Given the description of an element on the screen output the (x, y) to click on. 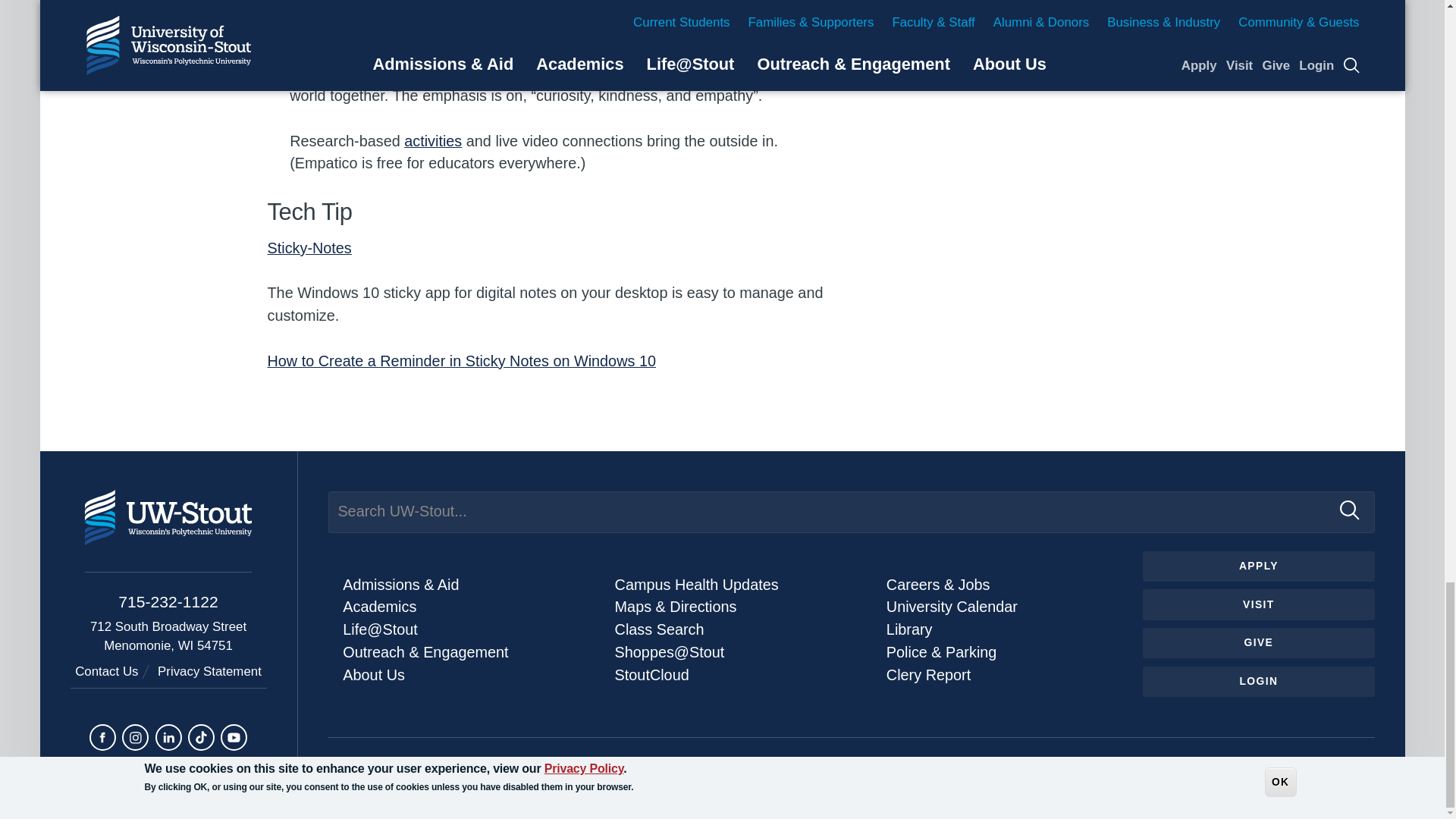
Search (1349, 509)
Search (1349, 509)
